Given the description of an element on the screen output the (x, y) to click on. 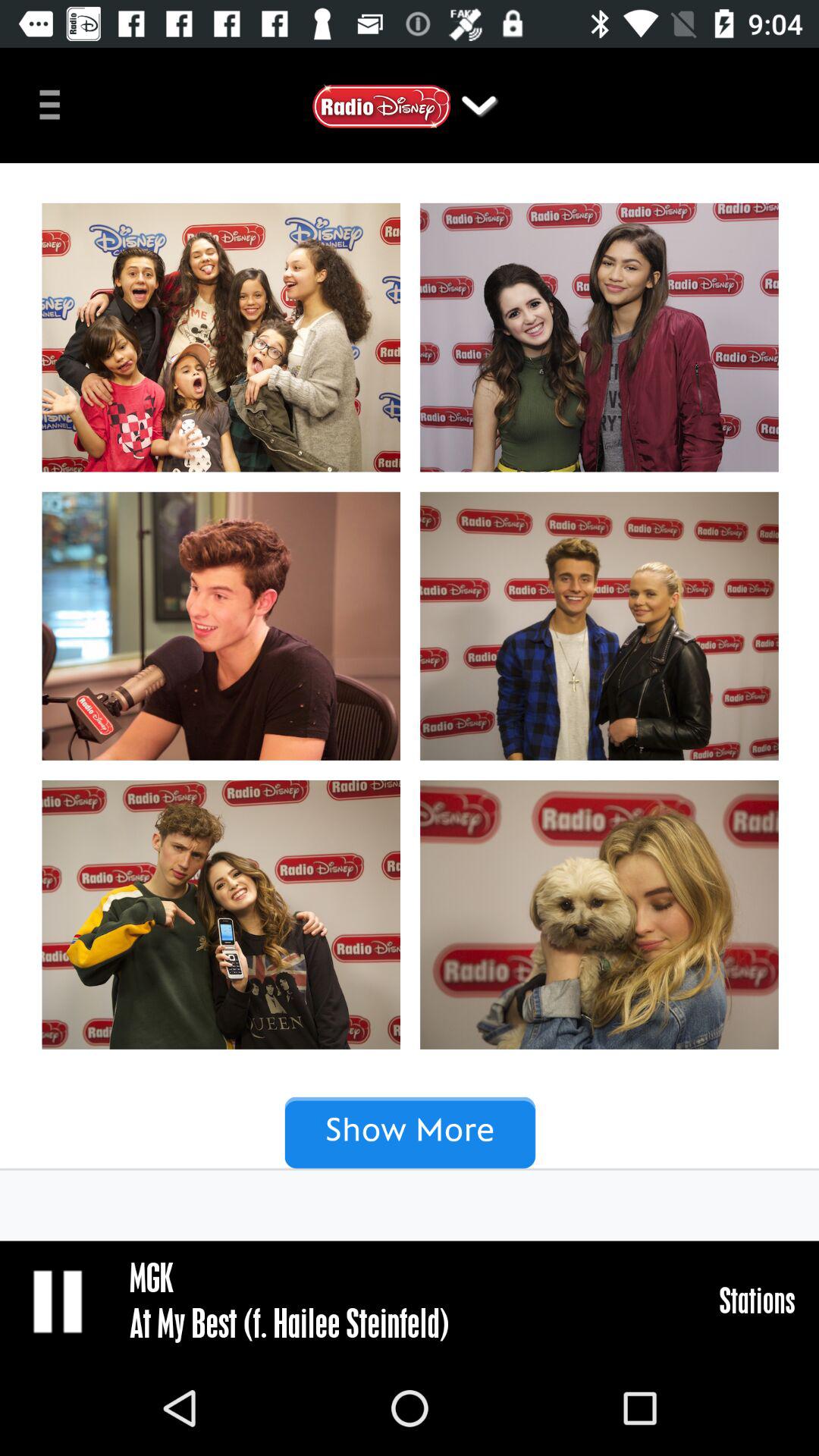
go to play box (59, 1300)
